Given the description of an element on the screen output the (x, y) to click on. 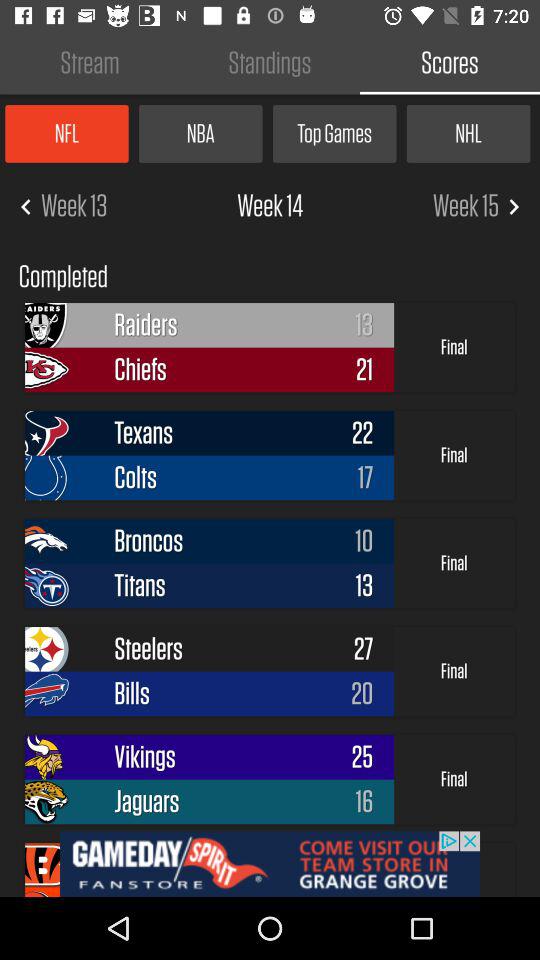
select the 8th icon (53, 694)
